Given the description of an element on the screen output the (x, y) to click on. 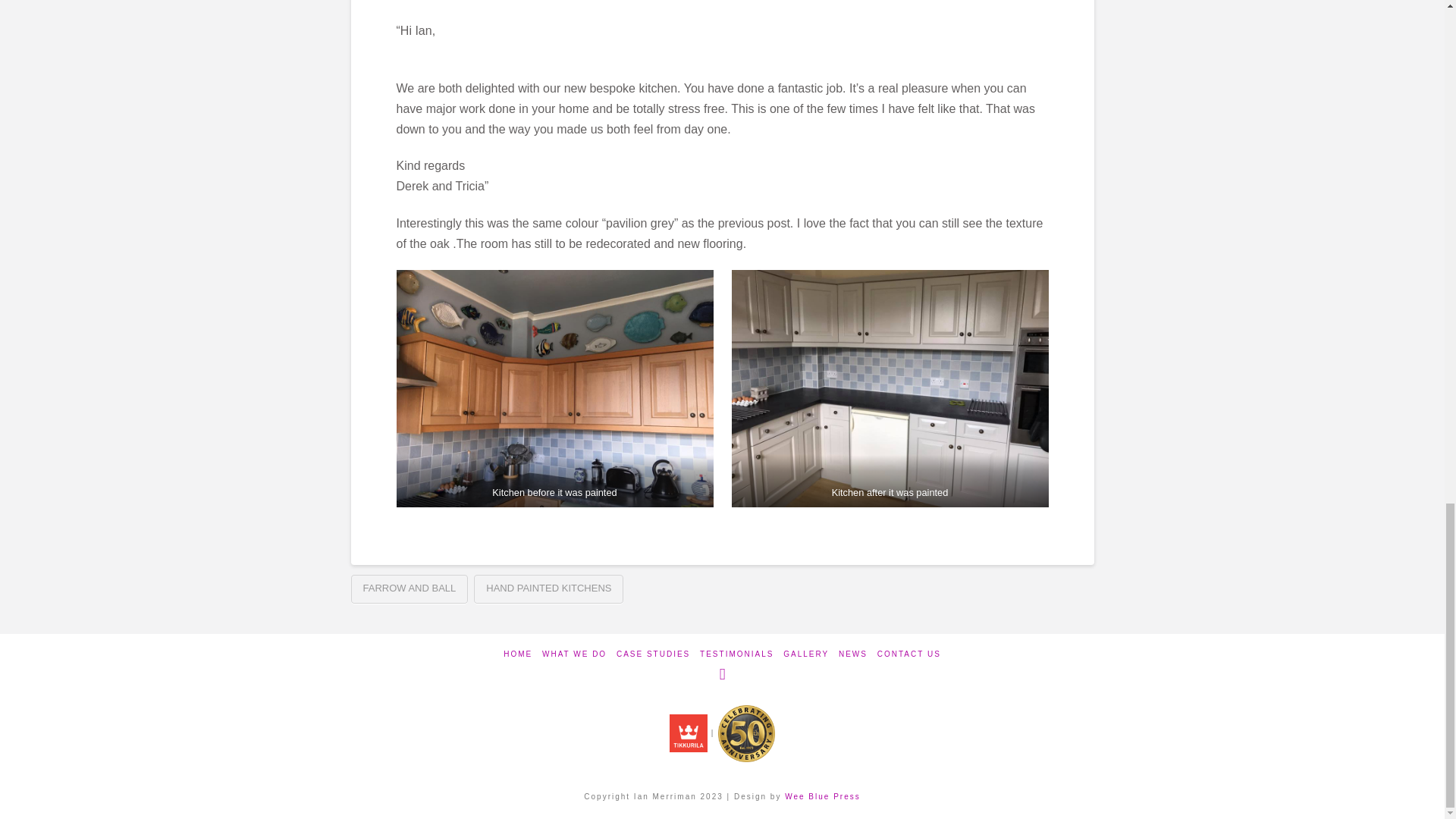
WHAT WE DO (574, 654)
CASE STUDIES (652, 654)
CONTACT US (908, 654)
NEWS (852, 654)
TESTIMONIALS (736, 654)
FARROW AND BALL (408, 588)
HAND PAINTED KITCHENS (548, 588)
HOME (517, 654)
GALLERY (805, 654)
